Given the description of an element on the screen output the (x, y) to click on. 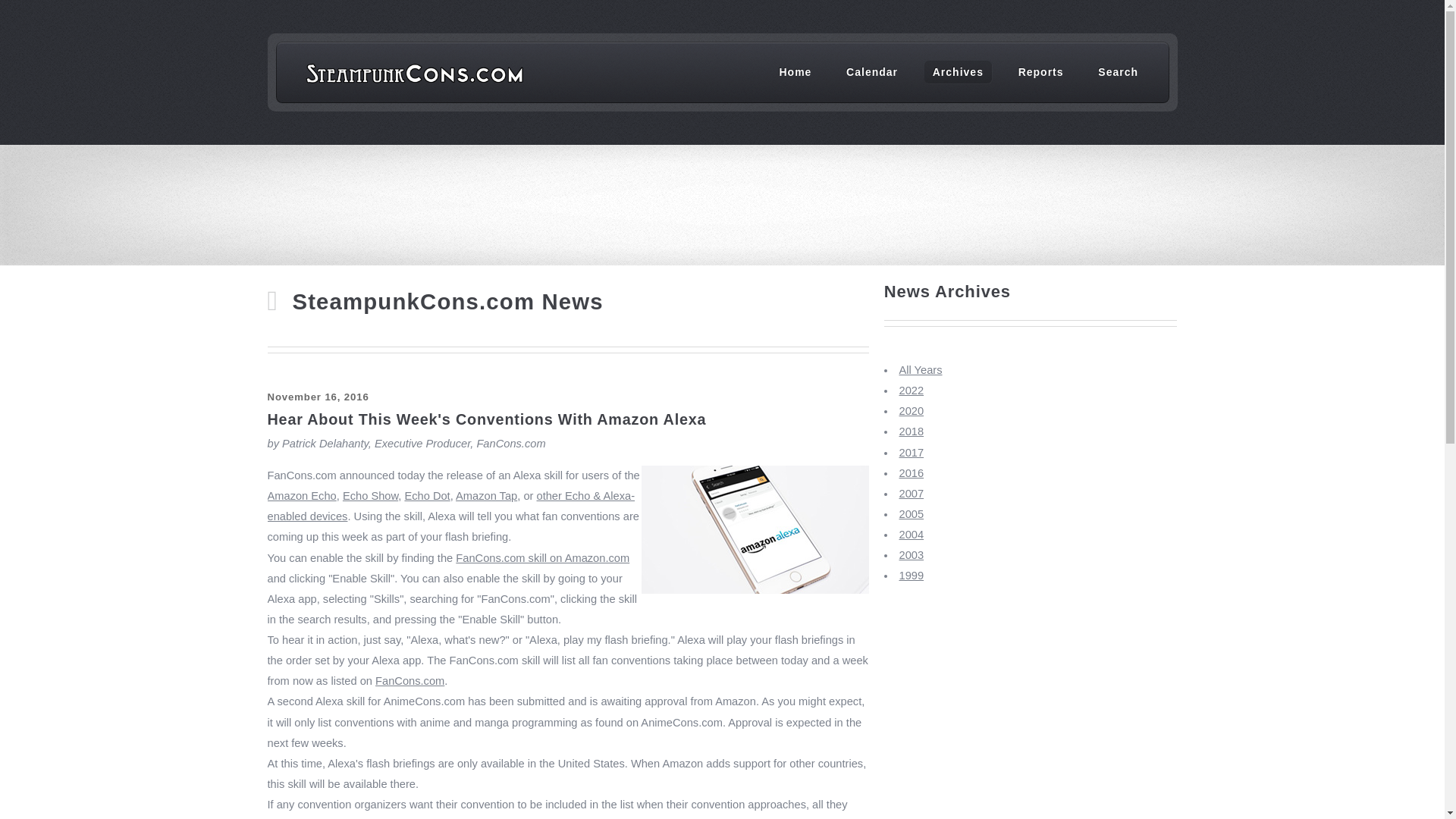
Amazon Tap (485, 495)
Echo Show (369, 495)
Archives (957, 71)
FanCons.com (409, 680)
Calendar (871, 71)
3rd party ad content (722, 196)
Home (794, 71)
Echo Dot (426, 495)
Reports (1040, 71)
FanCons.com skill on Amazon.com (541, 558)
Amazon Echo (301, 495)
Search (1118, 71)
